Given the description of an element on the screen output the (x, y) to click on. 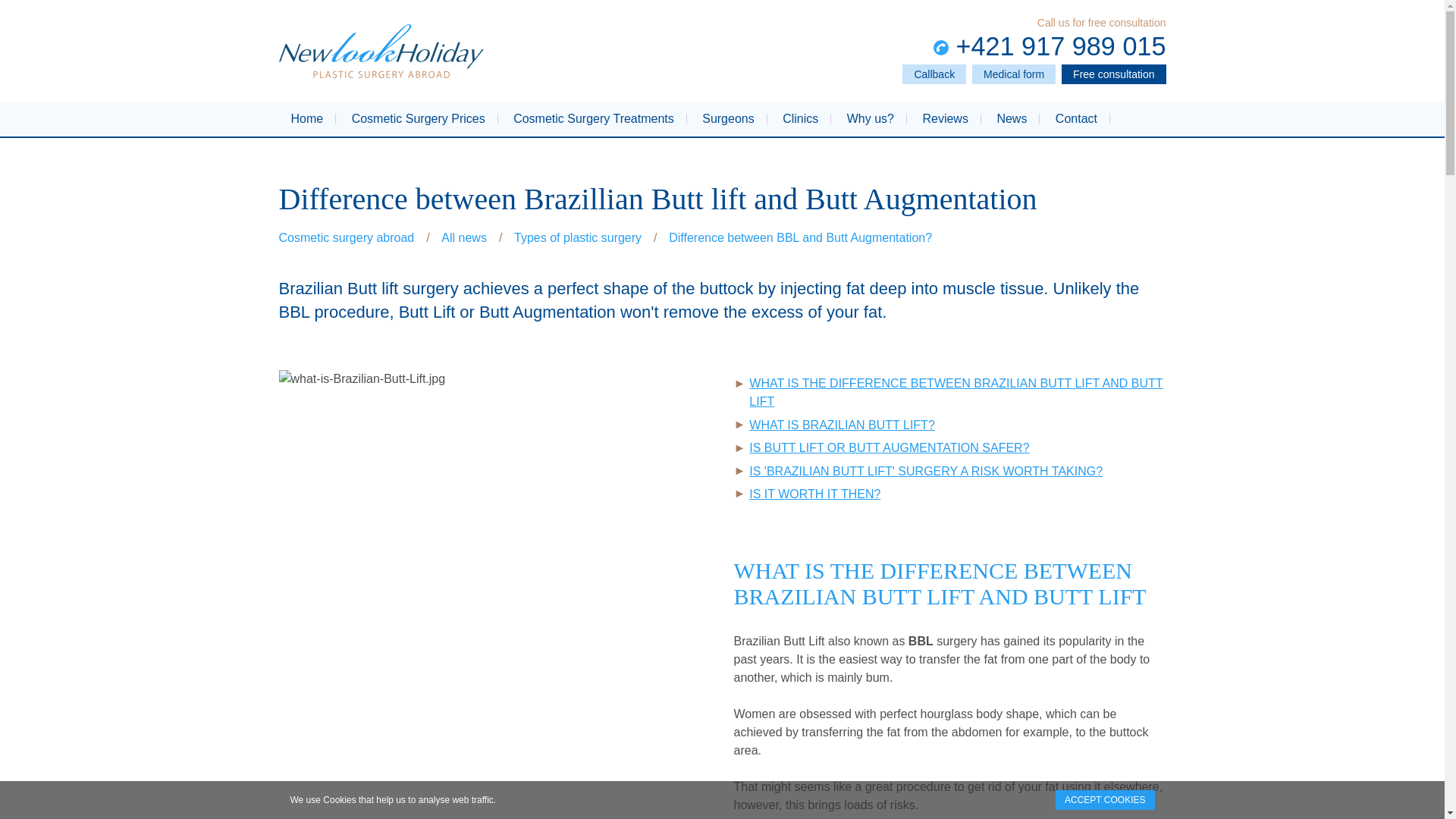
Reviews (944, 118)
Clinics (800, 118)
Callback (934, 74)
Free consultation (1113, 74)
Home (306, 118)
Medical form (1013, 74)
Cosmetic Surgery Prices (418, 118)
Why us? (870, 118)
Cosmetic Surgery Treatments (593, 118)
Surgeons (727, 118)
